Given the description of an element on the screen output the (x, y) to click on. 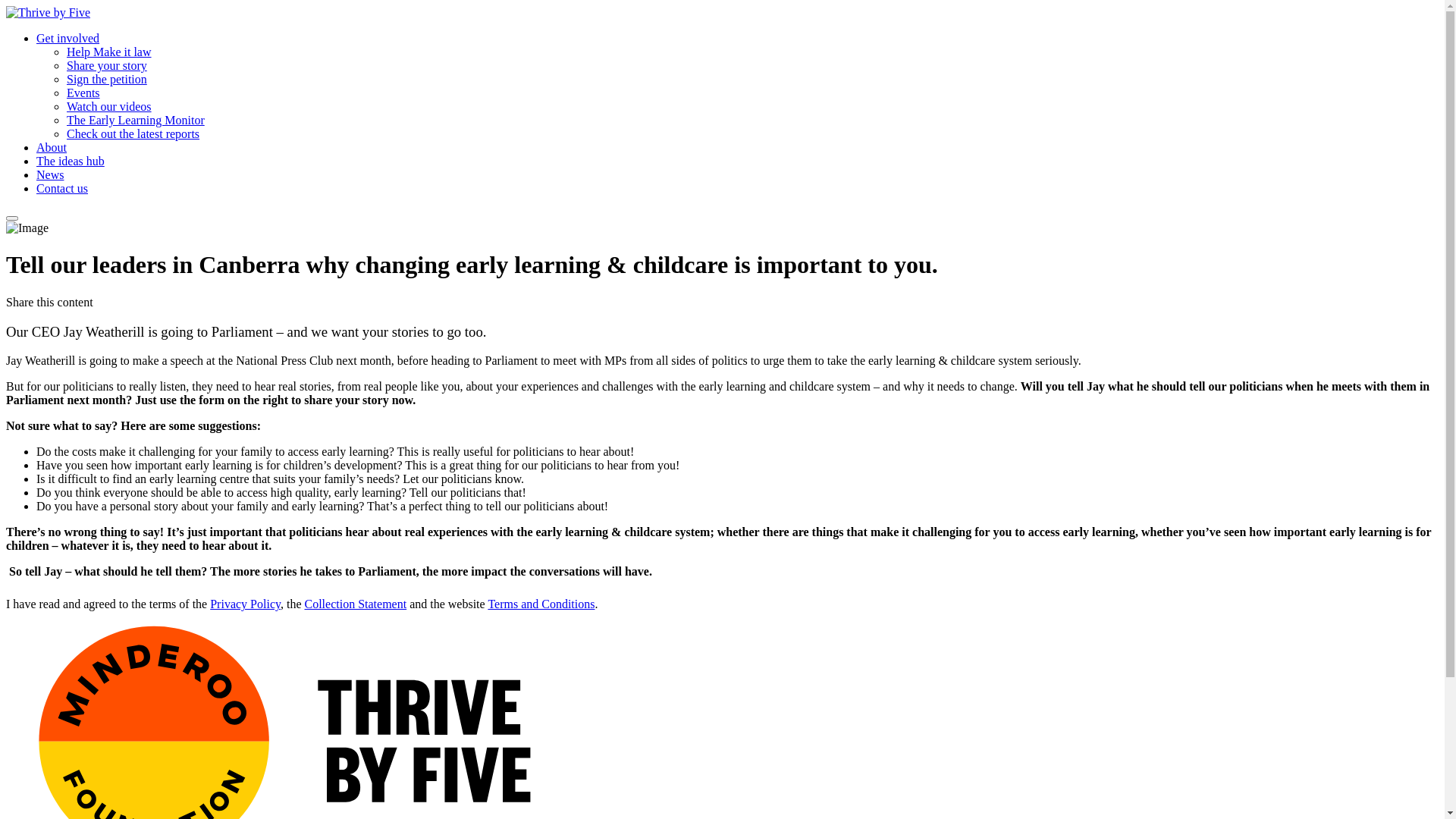
Share your story Element type: text (106, 65)
About Element type: text (51, 147)
News Element type: text (49, 174)
The ideas hub Element type: text (70, 160)
Help Make it law Element type: text (108, 51)
Check out the latest reports Element type: text (132, 133)
Events Element type: text (83, 92)
Privacy Policy Element type: text (245, 603)
Contact us Element type: text (61, 188)
Sign the petition Element type: text (106, 78)
Get involved Element type: text (67, 37)
Collection Statement Element type: text (355, 603)
Terms and Conditions Element type: text (540, 603)
The Early Learning Monitor Element type: text (135, 119)
Watch our videos Element type: text (108, 106)
